Given the description of an element on the screen output the (x, y) to click on. 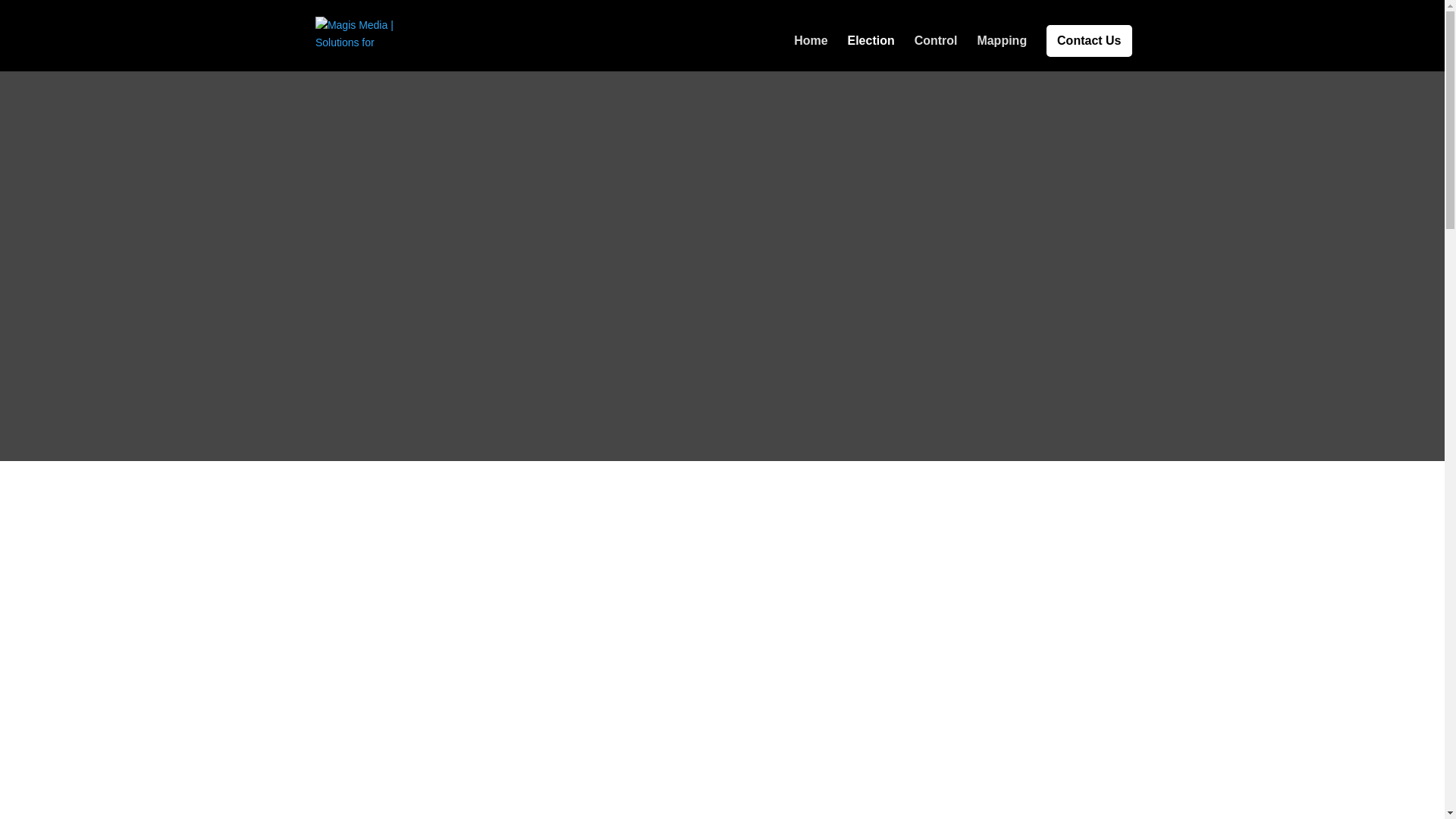
Contact Us (1088, 40)
Control (936, 53)
Home (810, 53)
Election (871, 53)
Mapping (1001, 53)
